Given the description of an element on the screen output the (x, y) to click on. 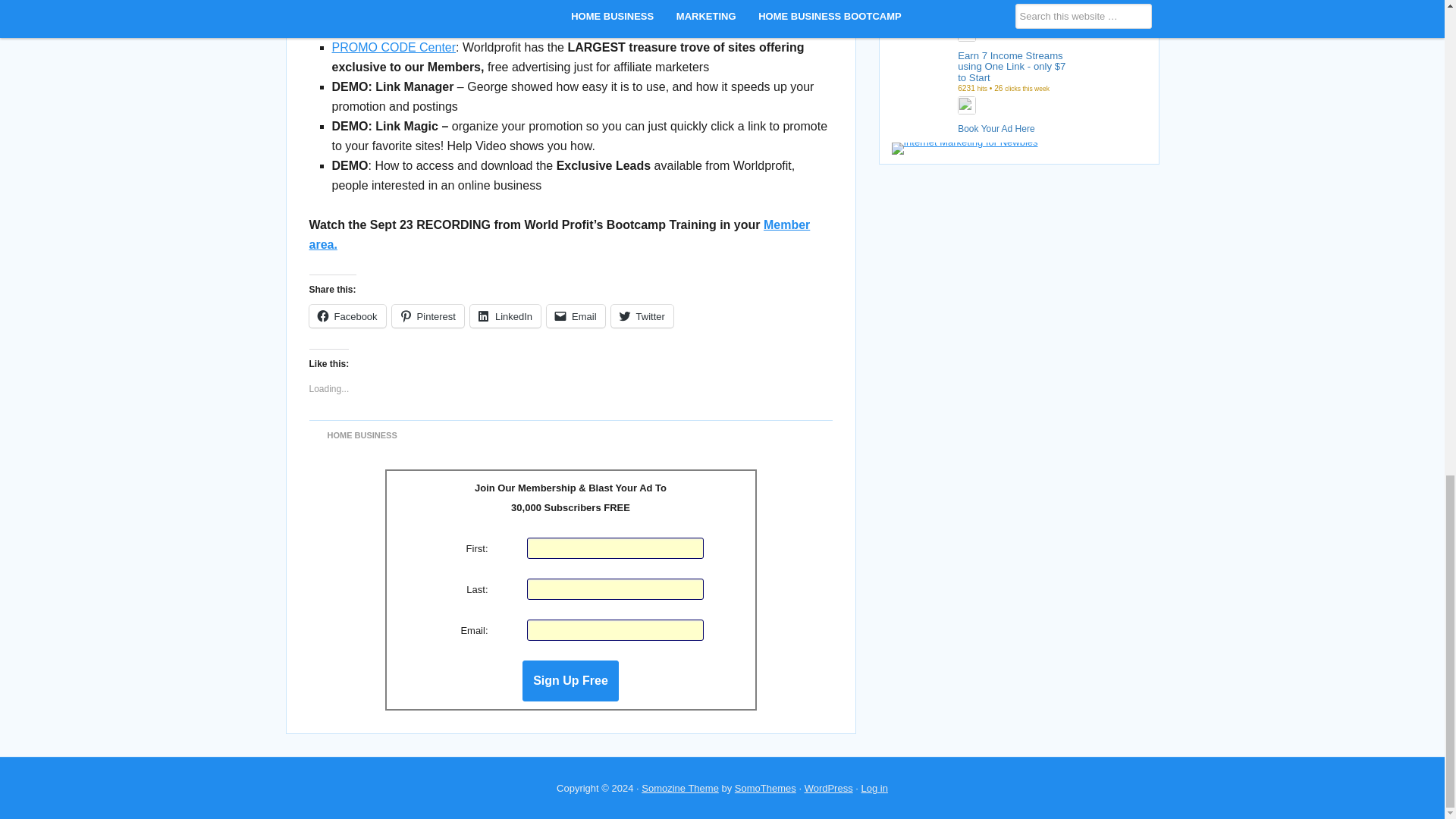
Click to share on Twitter (641, 315)
Email (576, 315)
PROMO CODE Center (394, 47)
HOME BUSINESS (362, 434)
Click to email a link to a friend (576, 315)
Sign Up Free (570, 680)
Sign Up Free (570, 680)
Click to share on Pinterest (427, 315)
Somozine Theme (680, 787)
Pinterest (427, 315)
LinkedIn (505, 315)
Member area. (559, 234)
Facebook (346, 315)
Twitter (641, 315)
Somozine Theme (680, 787)
